Given the description of an element on the screen output the (x, y) to click on. 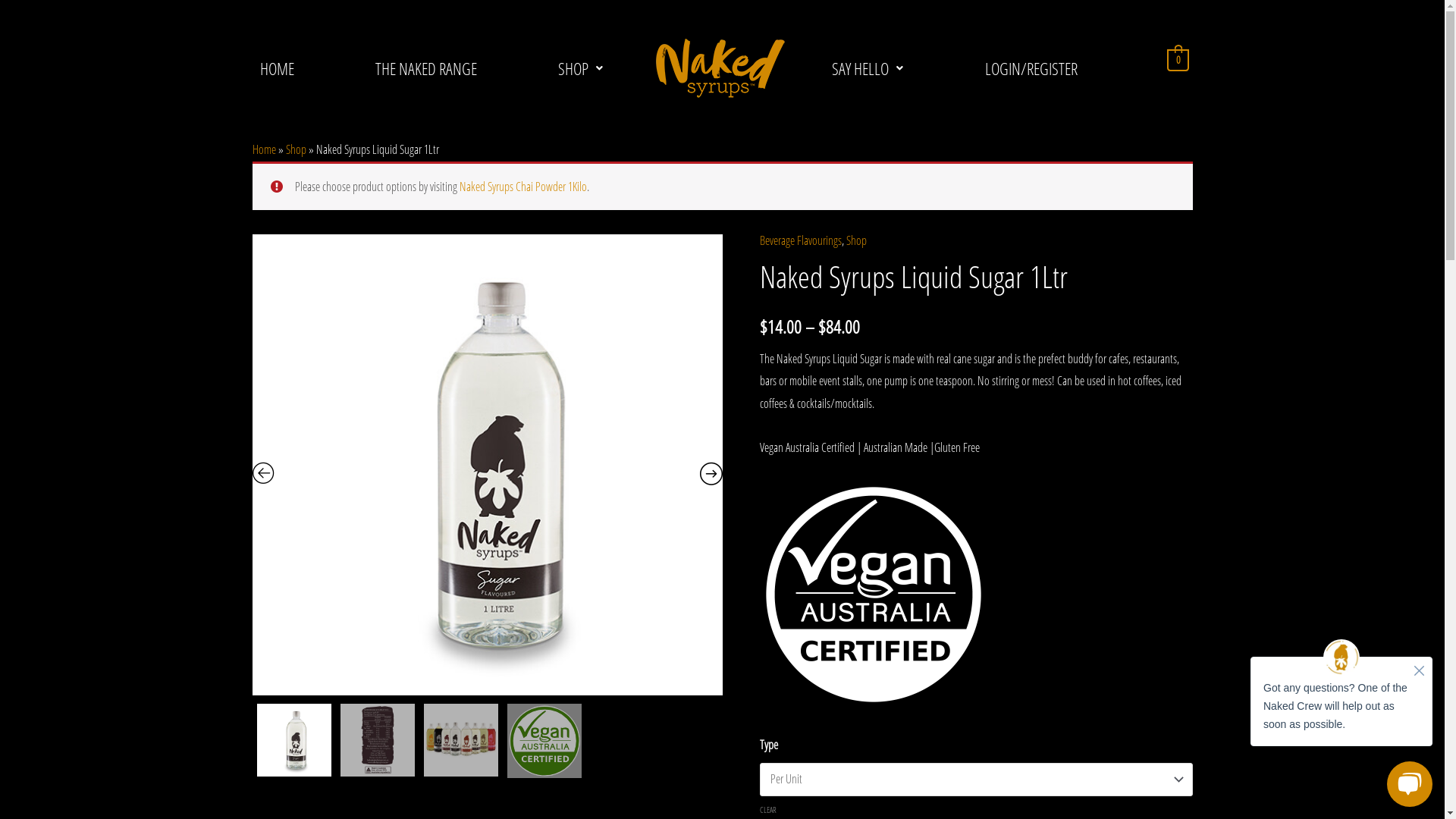
THE NAKED RANGE Element type: text (426, 67)
Shop Element type: text (295, 149)
SHOP Element type: text (579, 67)
0 Element type: text (1178, 58)
Beverage Flavourings Element type: text (800, 240)
HOME Element type: text (281, 67)
Home Element type: text (263, 149)
SAY HELLO Element type: text (867, 67)
Naked Syrups Chai Powder 1Kilo Element type: text (522, 186)
Shop Element type: text (856, 240)
Naked Syrups Liquid Sugar 1 LTR Element type: hover (486, 464)
LOGIN/REGISTER Element type: text (1030, 67)
